Given the description of an element on the screen output the (x, y) to click on. 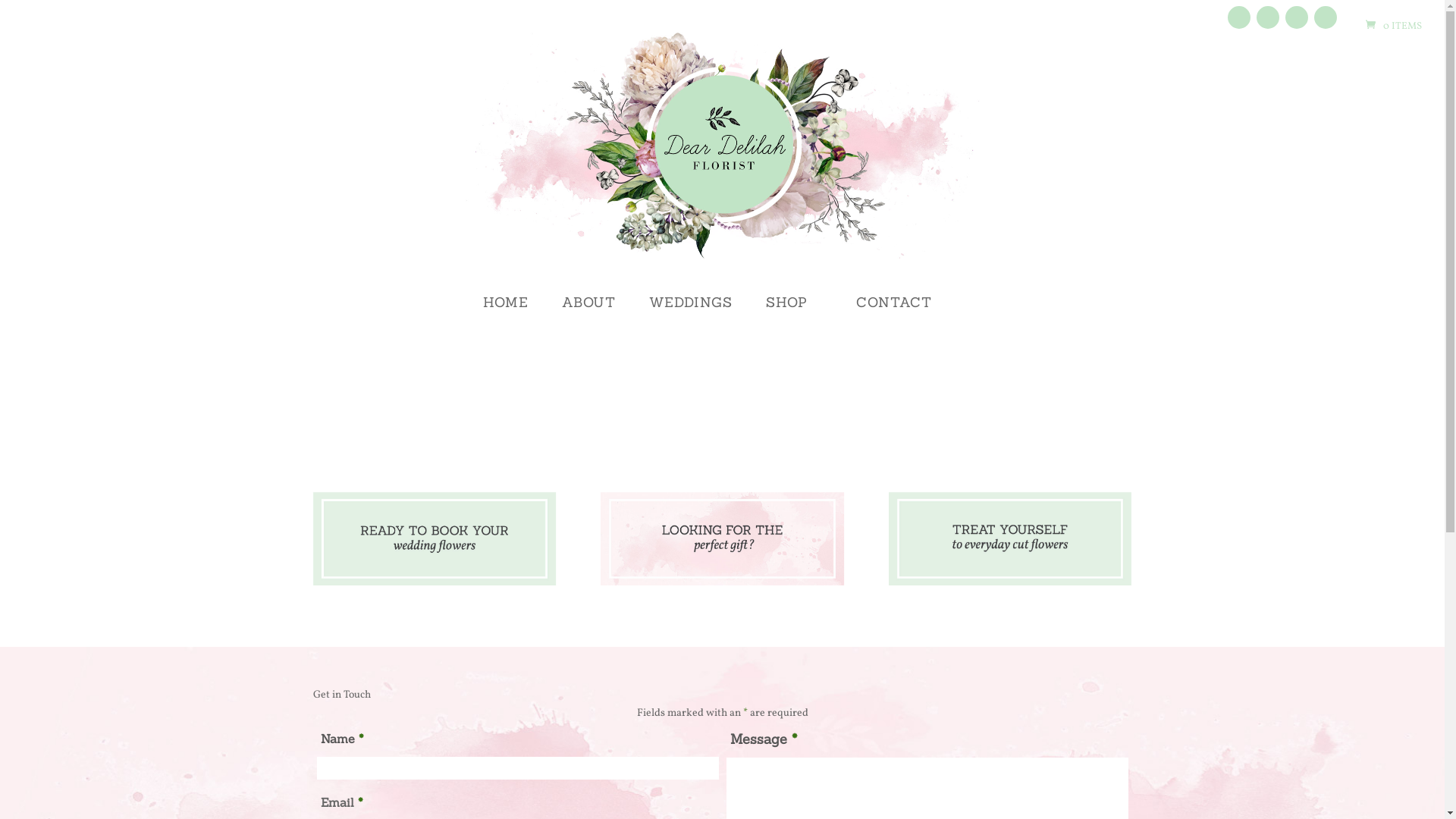
0 ITEMS Element type: text (1392, 26)
CONTACT Element type: text (893, 313)
ABOUT Element type: text (588, 313)
HOME Element type: text (504, 313)
WEDDINGS Element type: text (690, 313)
SHOP Element type: text (793, 313)
